Given the description of an element on the screen output the (x, y) to click on. 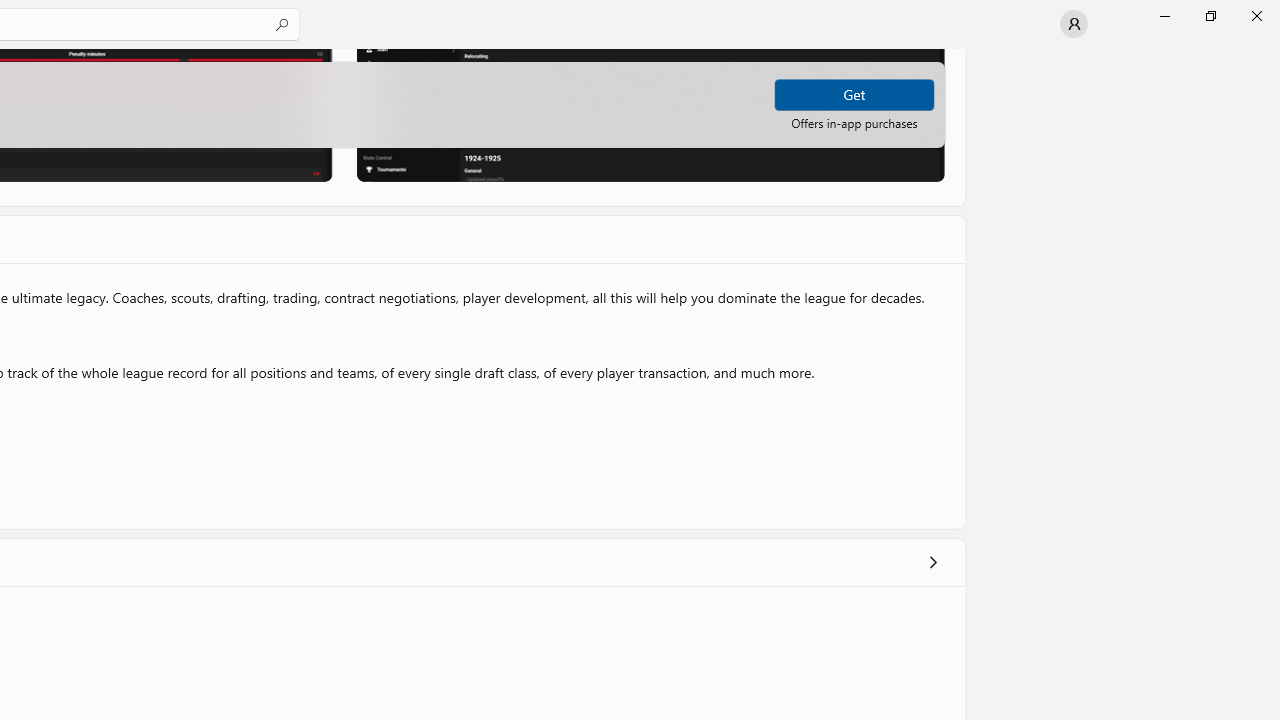
Get (854, 94)
Minimize Microsoft Store (1164, 15)
Show all ratings and reviews (932, 560)
Close Microsoft Store (1256, 15)
Screenshot 3 (649, 114)
User profile (1073, 24)
Restore Microsoft Store (1210, 15)
